Given the description of an element on the screen output the (x, y) to click on. 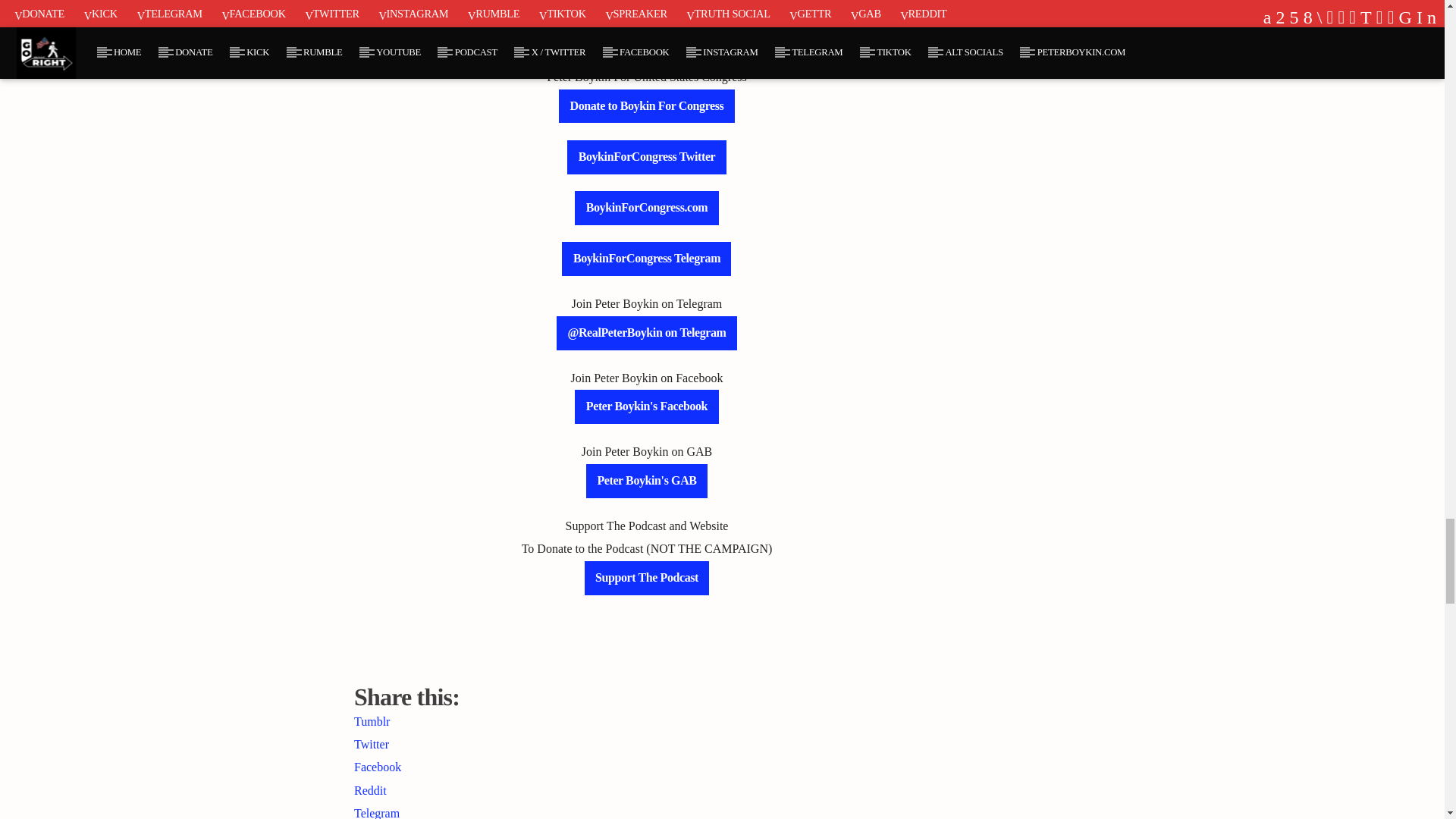
Click to share on Tumblr (371, 721)
Click to share on Facebook (377, 766)
Click to share on Telegram (375, 812)
Click to share on Twitter (370, 744)
Click to share on Reddit (370, 789)
